Given the description of an element on the screen output the (x, y) to click on. 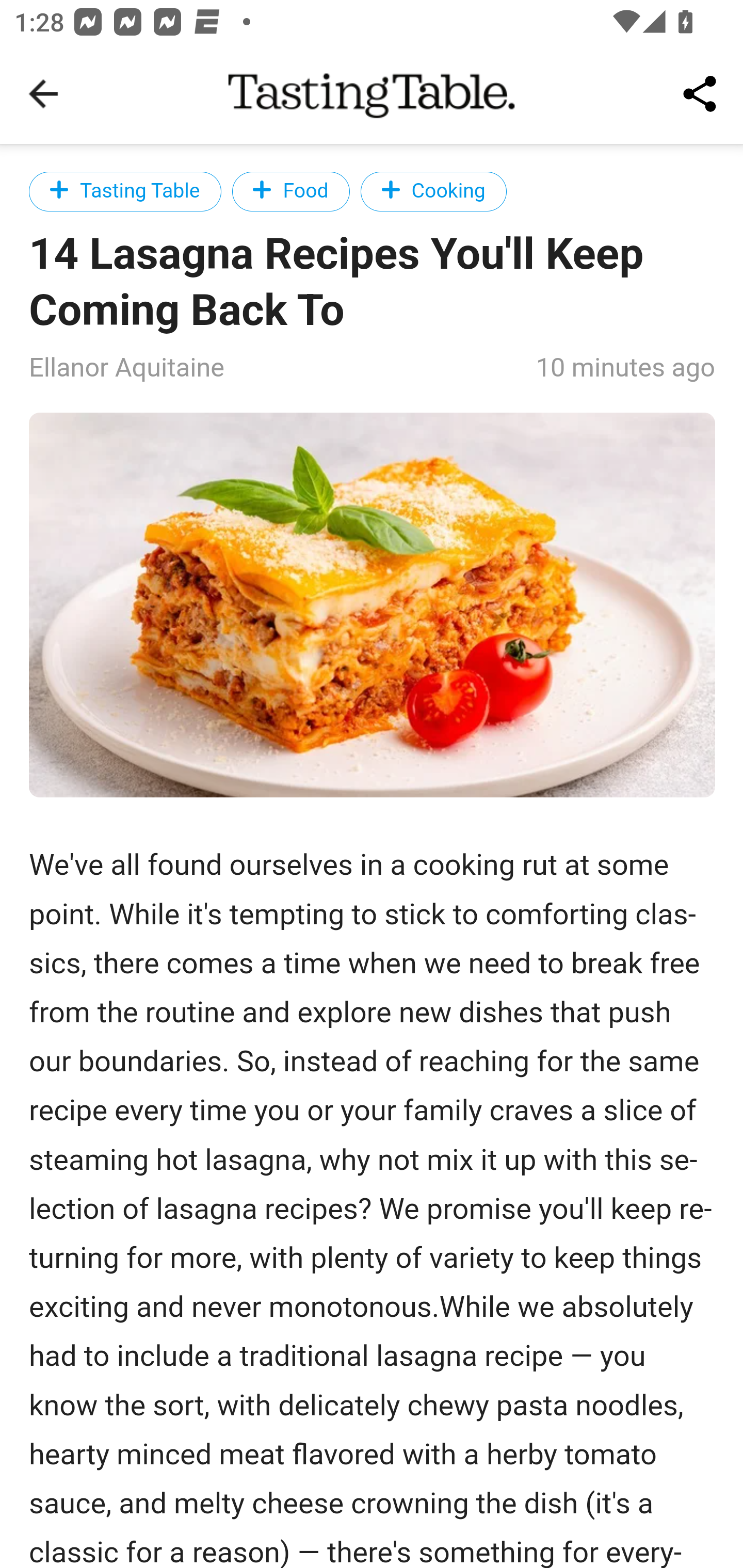
Tasting Table (125, 191)
Food (290, 191)
Cooking (432, 191)
